Given the description of an element on the screen output the (x, y) to click on. 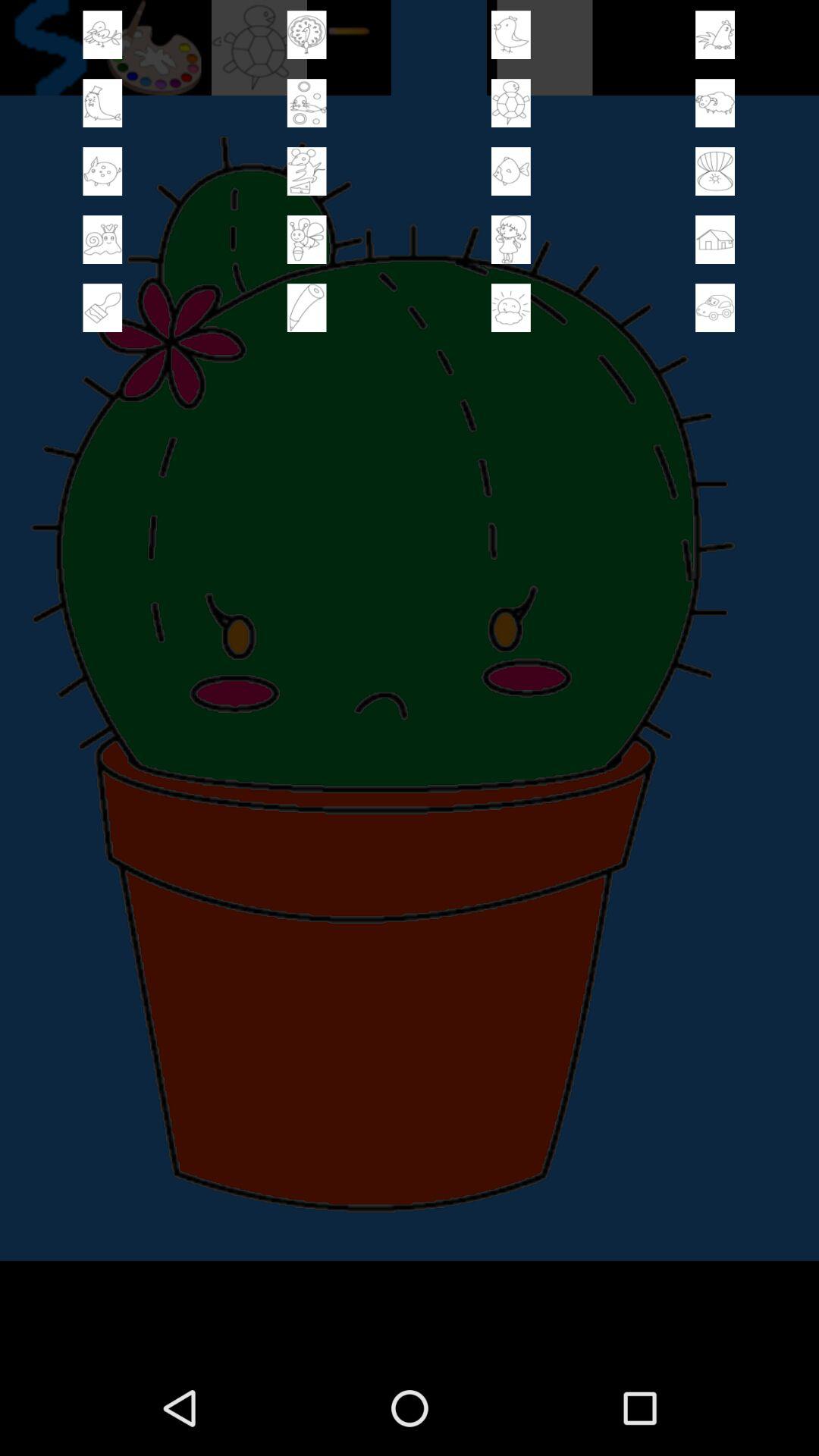
paint tools (510, 239)
